Given the description of an element on the screen output the (x, y) to click on. 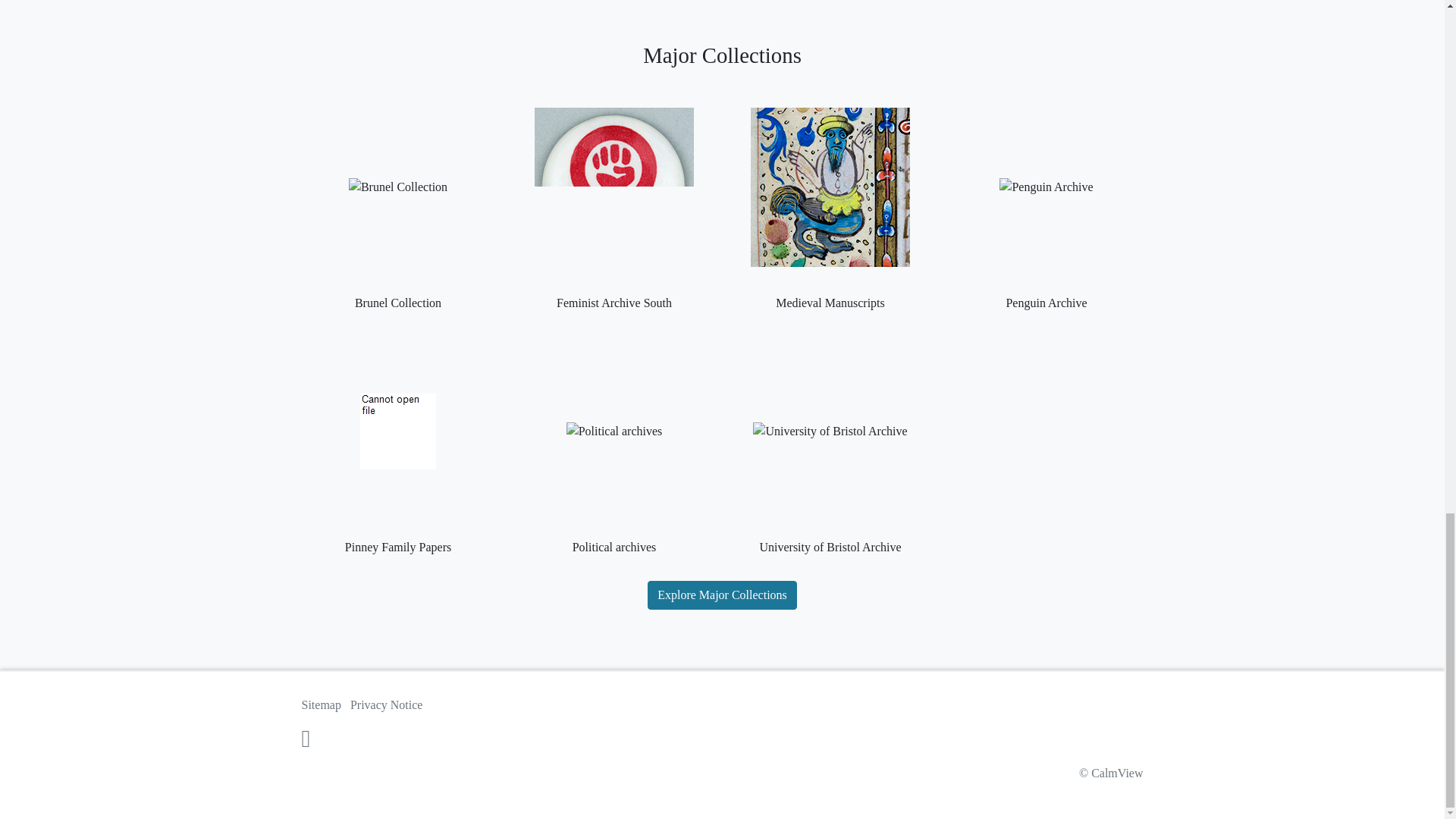
Sitemap (320, 704)
Explore Major Collections (721, 594)
Privacy Notice (386, 704)
